Given the description of an element on the screen output the (x, y) to click on. 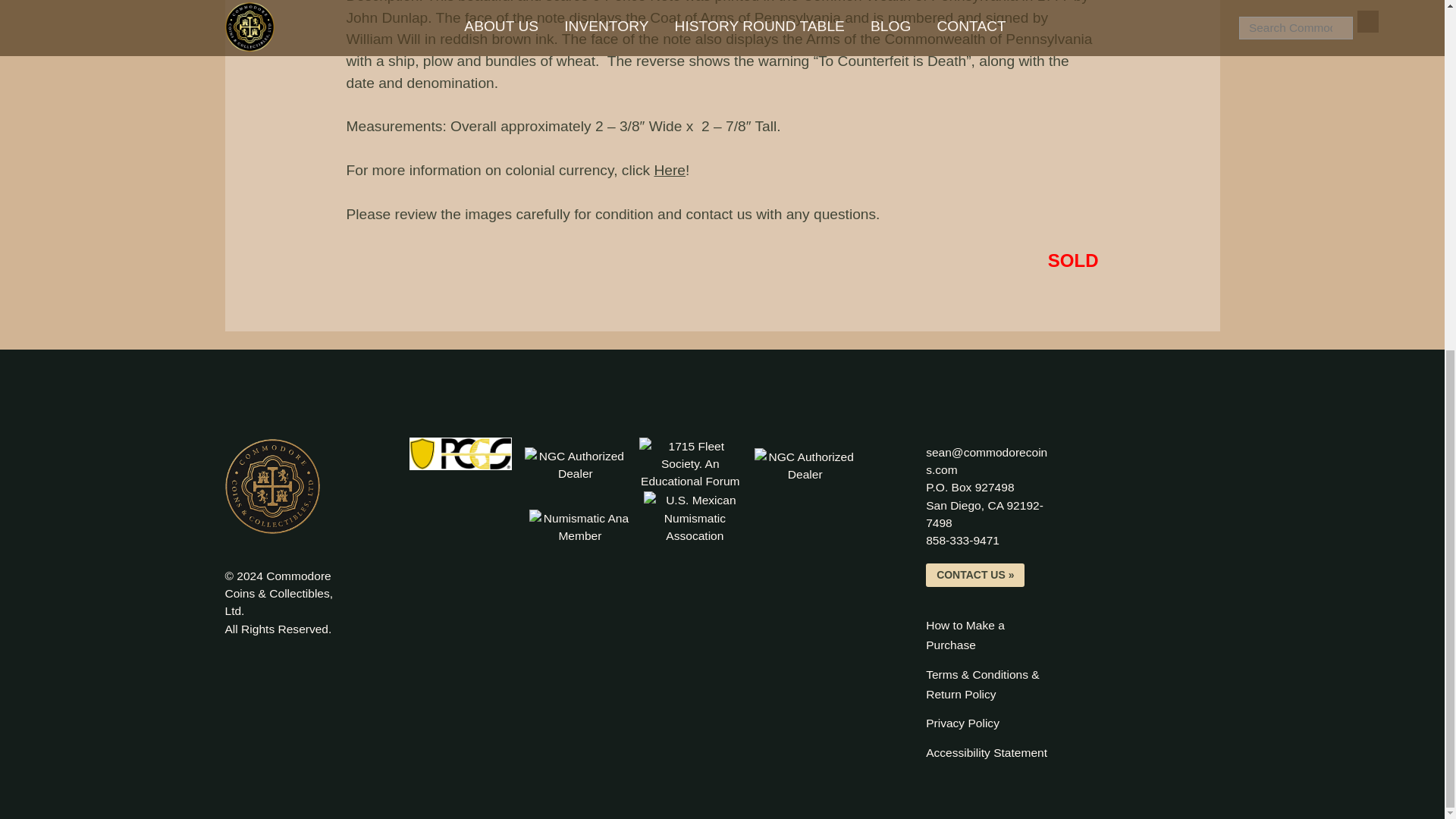
CAC Grading (575, 465)
How to Make a Purchase (962, 540)
Here (965, 635)
Accessibility Statement (669, 170)
Privacy Policy (986, 752)
NGC Authorized Dealer (962, 722)
